Given the description of an element on the screen output the (x, y) to click on. 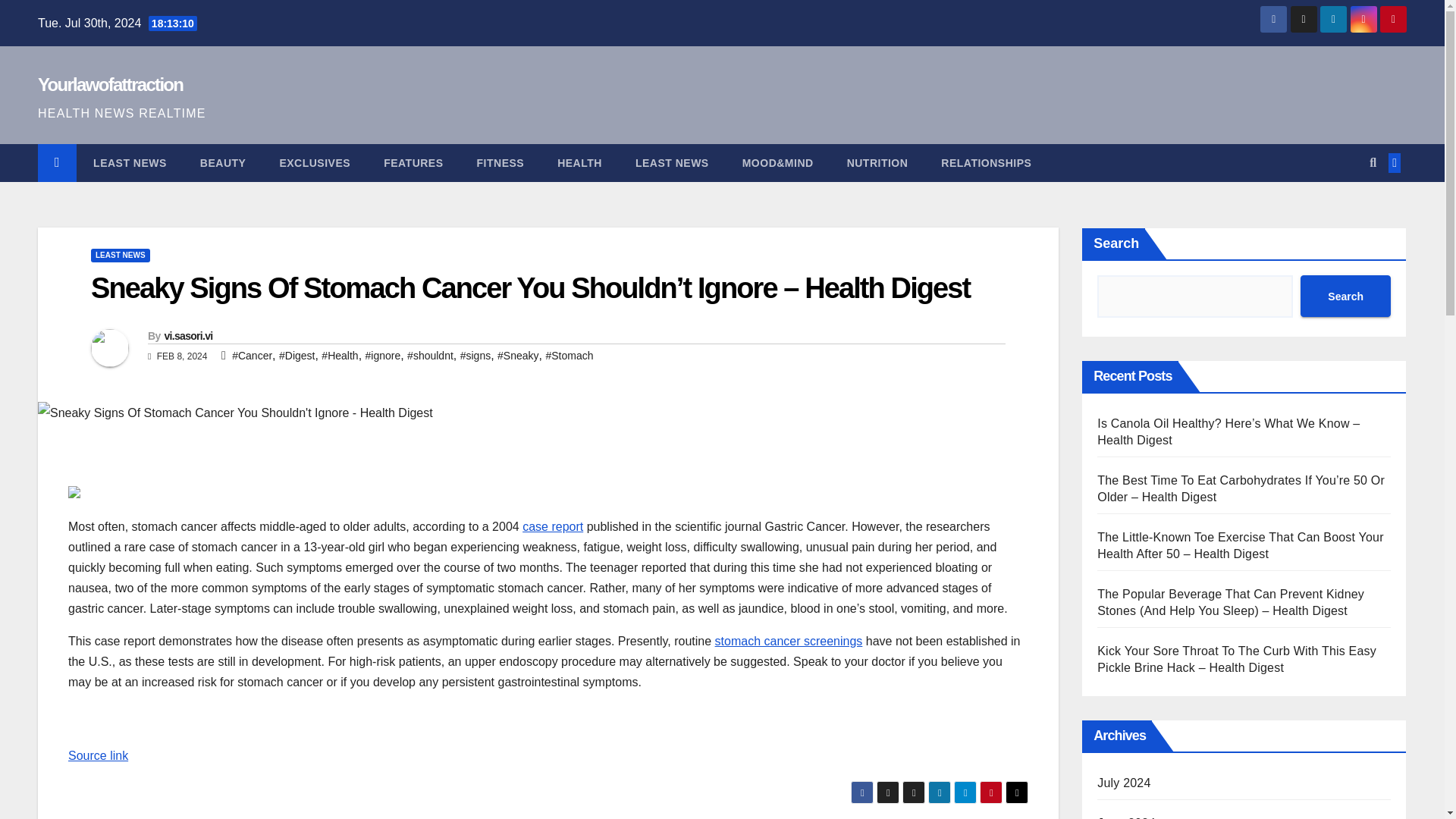
EXCLUSIVES (314, 162)
Yourlawofattraction (110, 84)
FEATURES (413, 162)
FITNESS (500, 162)
Least News (671, 162)
NUTRITION (876, 162)
case report (552, 526)
RELATIONSHIPS (986, 162)
Health (579, 162)
Relationships (986, 162)
Features (413, 162)
stomach cancer screenings (788, 640)
Beauty (223, 162)
LEAST NEWS (119, 255)
LEAST NEWS (130, 162)
